Given the description of an element on the screen output the (x, y) to click on. 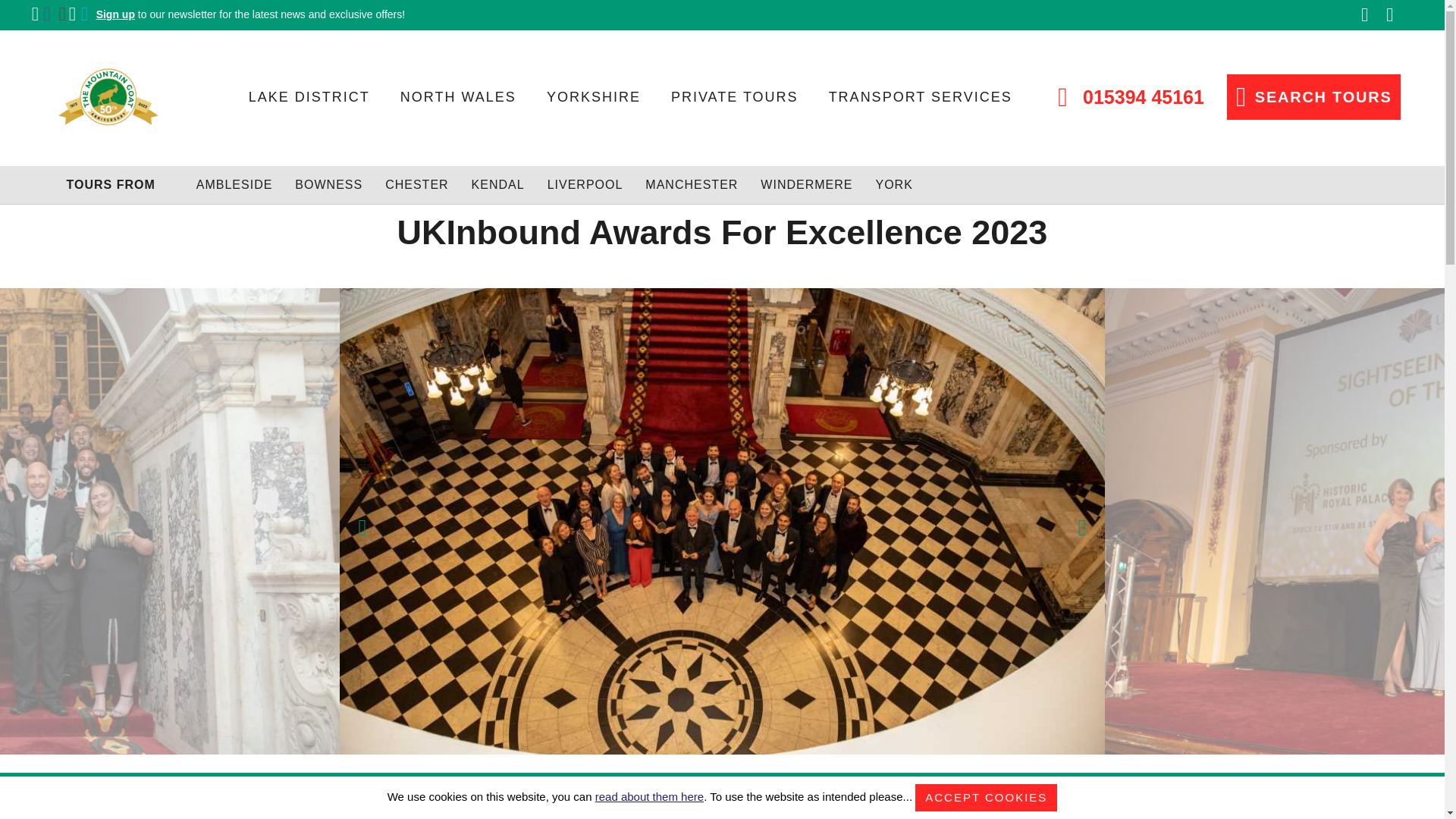
Manchester (691, 184)
PRIVATE TOURS (734, 103)
Bowness (328, 184)
LAKE DISTRICT (308, 103)
Chester (416, 184)
Kendal (497, 184)
Ambleside (234, 184)
Liverpool (585, 184)
Mountain Goat (108, 96)
YORKSHIRE (593, 103)
Windermere (805, 184)
Newsletter (250, 14)
York (893, 184)
Search Tours (1313, 96)
TRANSPORT SERVICES (919, 103)
